Given the description of an element on the screen output the (x, y) to click on. 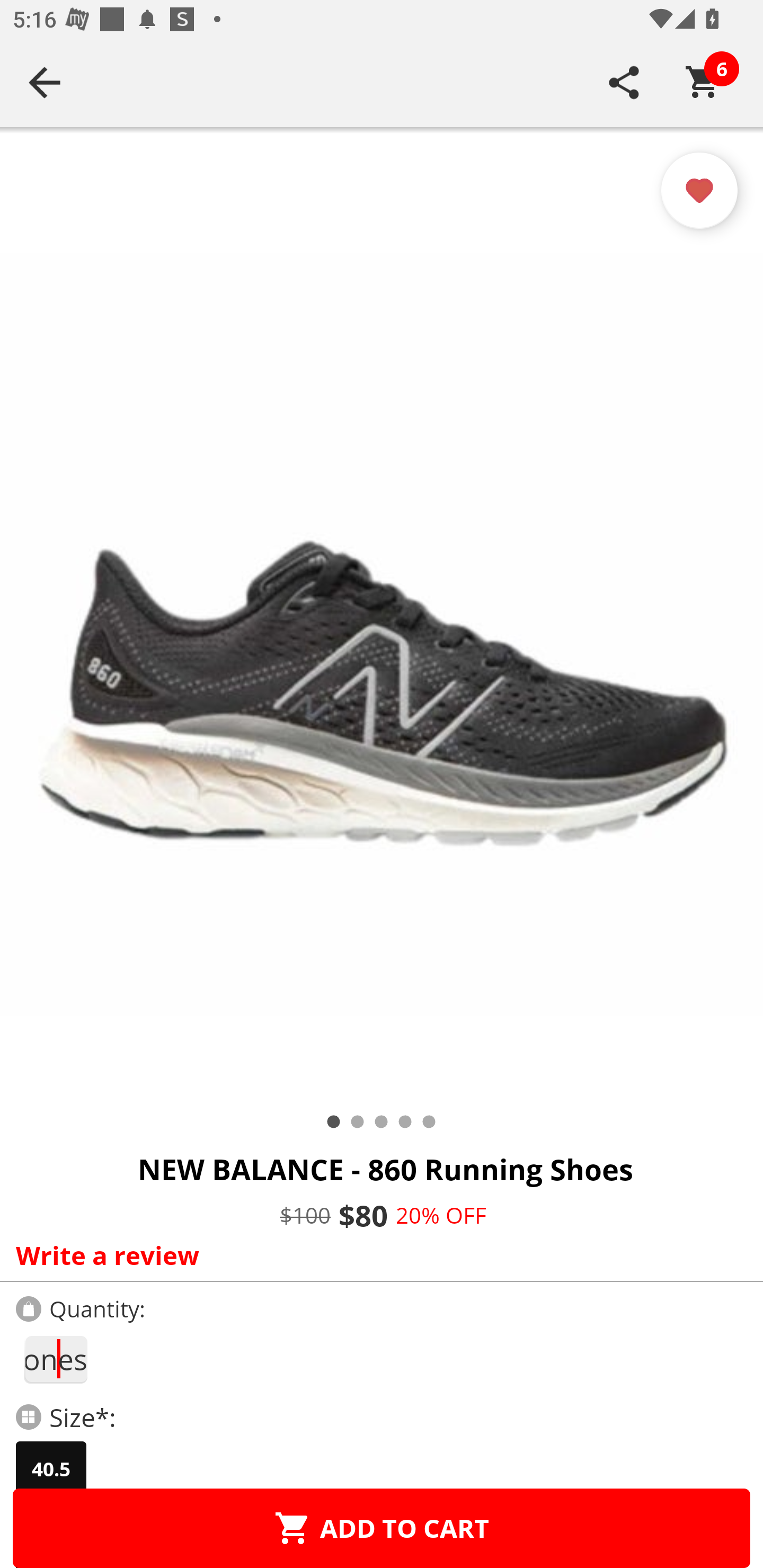
Navigate up (44, 82)
SHARE (623, 82)
Cart (703, 81)
Write a review (377, 1255)
1headphones (55, 1358)
40.5 (51, 1468)
ADD TO CART (381, 1528)
